Given the description of an element on the screen output the (x, y) to click on. 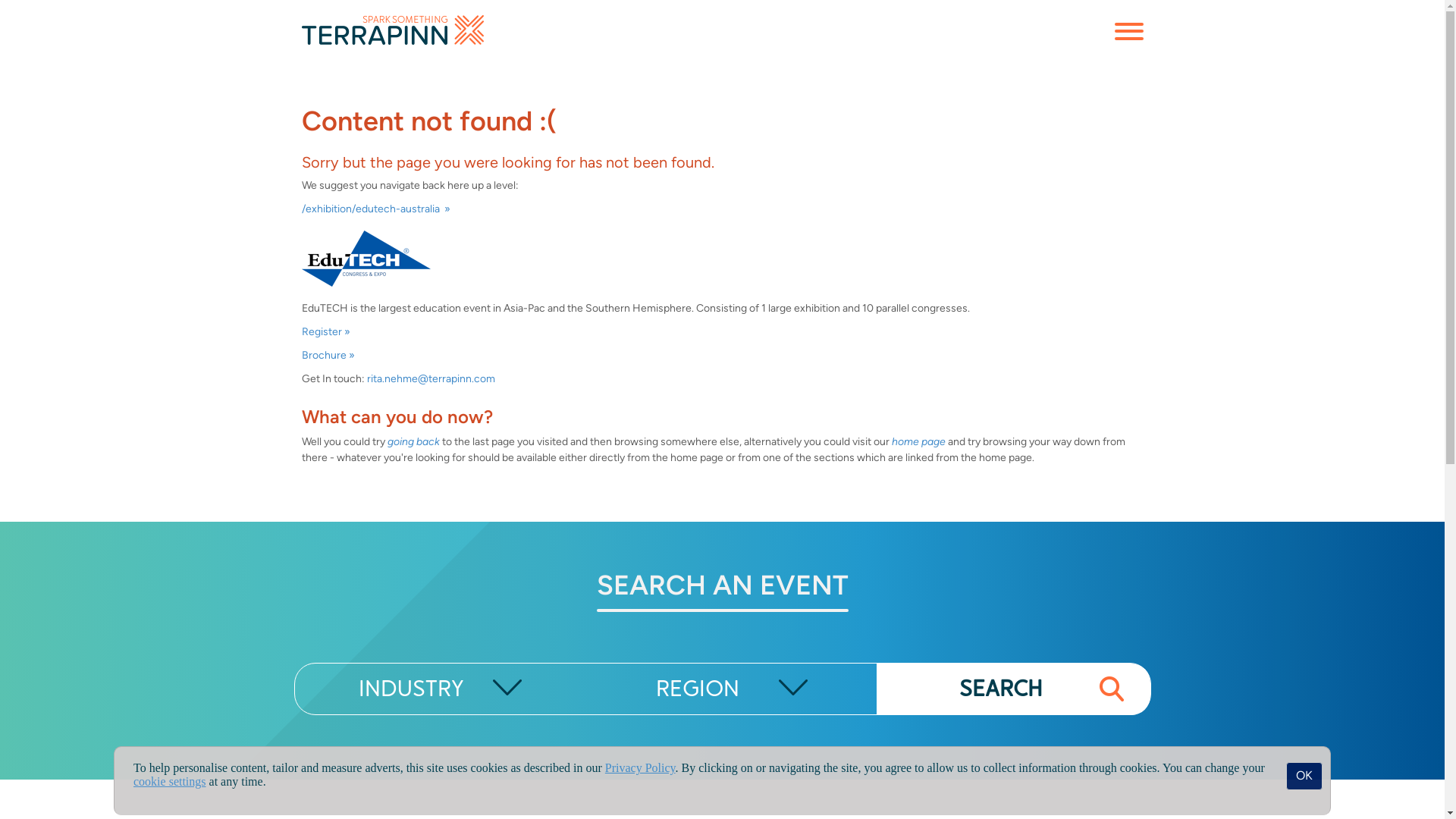
home page Element type: text (918, 441)
search Element type: text (1111, 688)
cookie settings Element type: text (169, 781)
going back Element type: text (412, 441)
rita.nehme@terrapinn.com Element type: text (431, 378)
Terrapinn Element type: hover (392, 29)
OK Element type: text (1304, 776)
EduTECH 2024, Melbourne - 13 - 14 August 2024 Element type: hover (365, 257)
Privacy Policy Element type: text (640, 767)
